Given the description of an element on the screen output the (x, y) to click on. 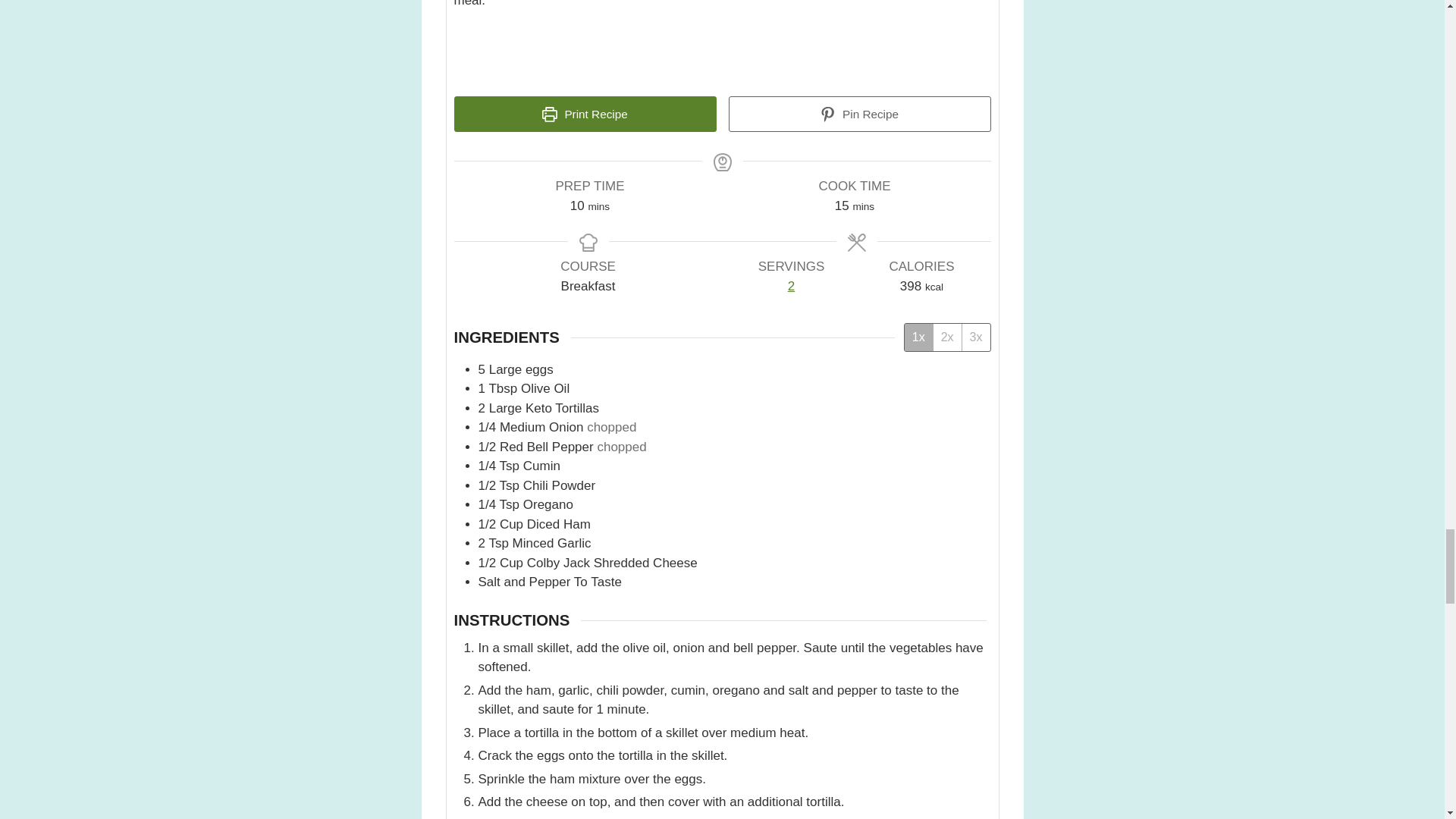
3x (975, 337)
Print Recipe (584, 114)
1x (918, 337)
2x (946, 337)
2 (791, 286)
Pin Recipe (859, 114)
